Given the description of an element on the screen output the (x, y) to click on. 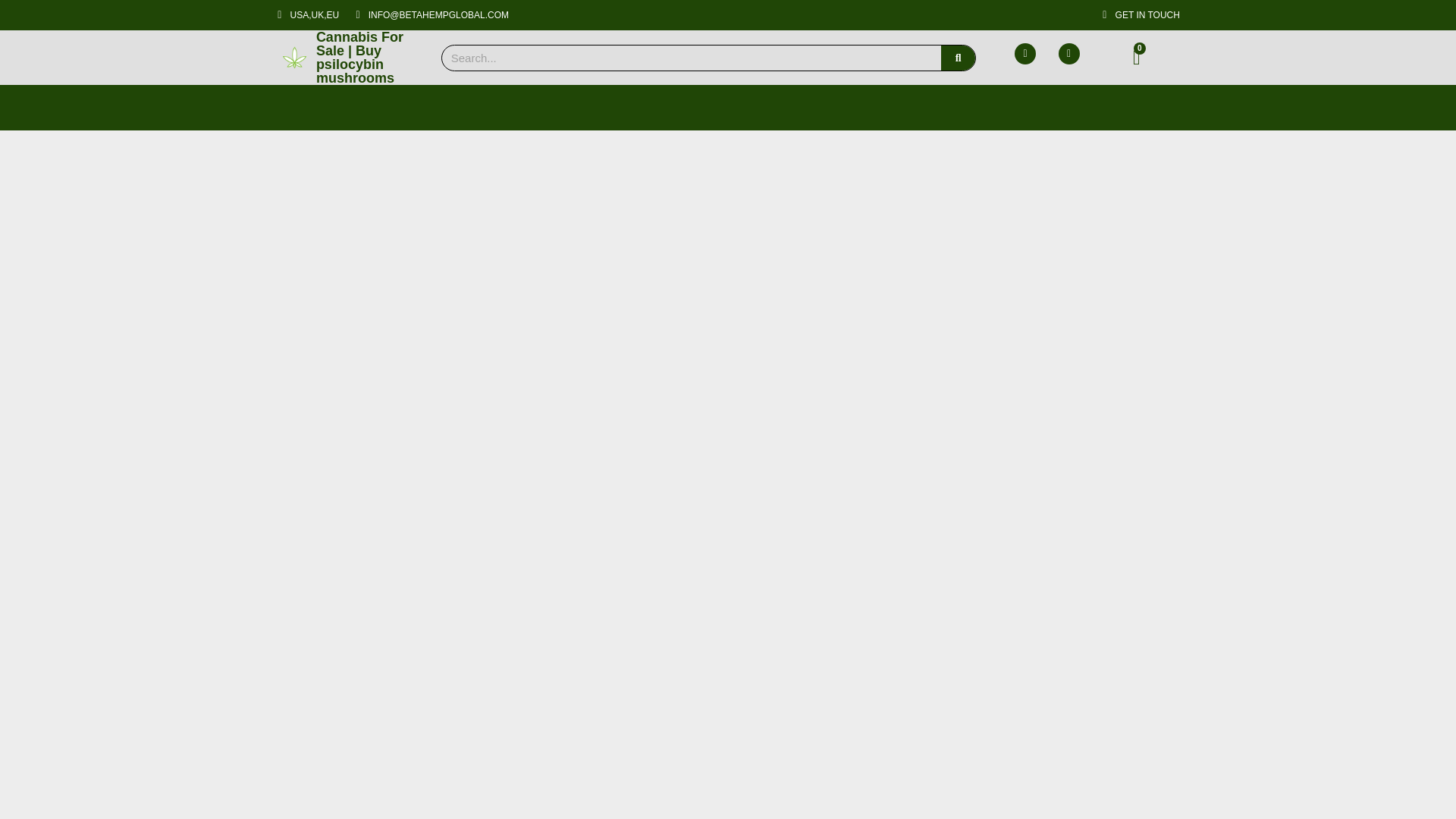
Search (957, 57)
Search (691, 57)
